Given the description of an element on the screen output the (x, y) to click on. 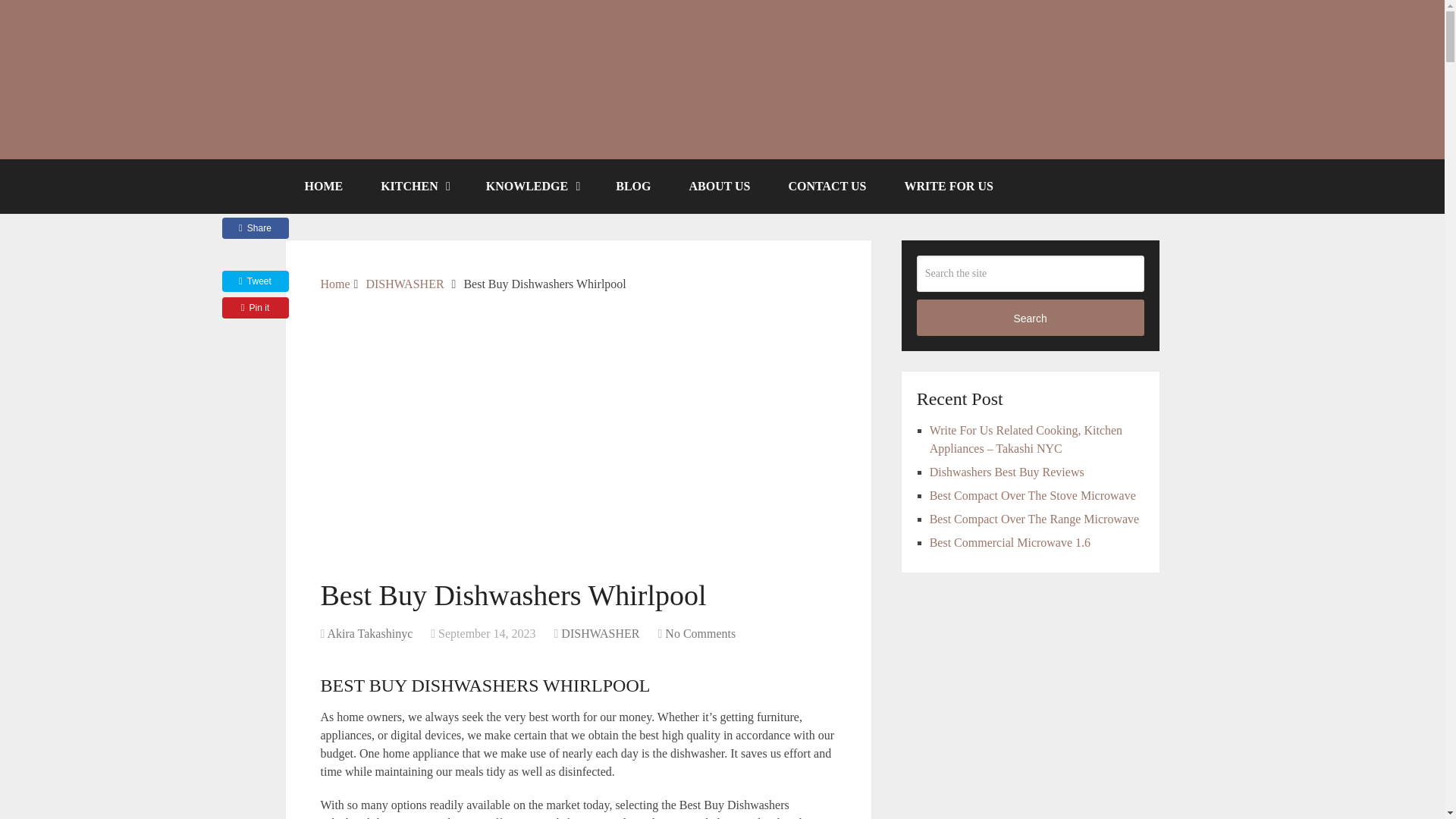
KITCHEN (414, 185)
WRITE FOR US (948, 185)
DISHWASHER (599, 633)
No Comments (700, 633)
Home (334, 283)
View all posts in DISHWASHER (599, 633)
DISHWASHER (404, 283)
BLOG (632, 185)
Akira Takashinyc (369, 633)
Posts by Akira Takashinyc (369, 633)
CONTACT US (827, 185)
HOME (323, 185)
KNOWLEDGE (531, 185)
ABOUT US (718, 185)
